Given the description of an element on the screen output the (x, y) to click on. 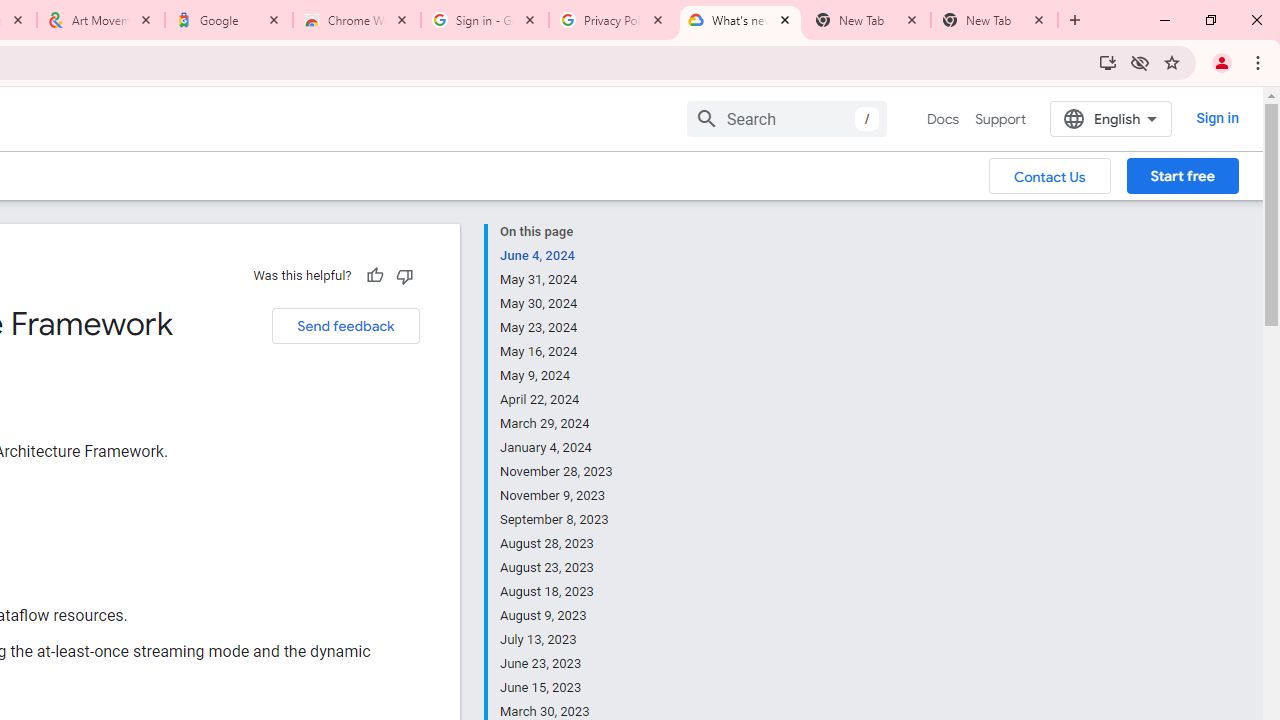
Docs, selected (942, 119)
